Given the description of an element on the screen output the (x, y) to click on. 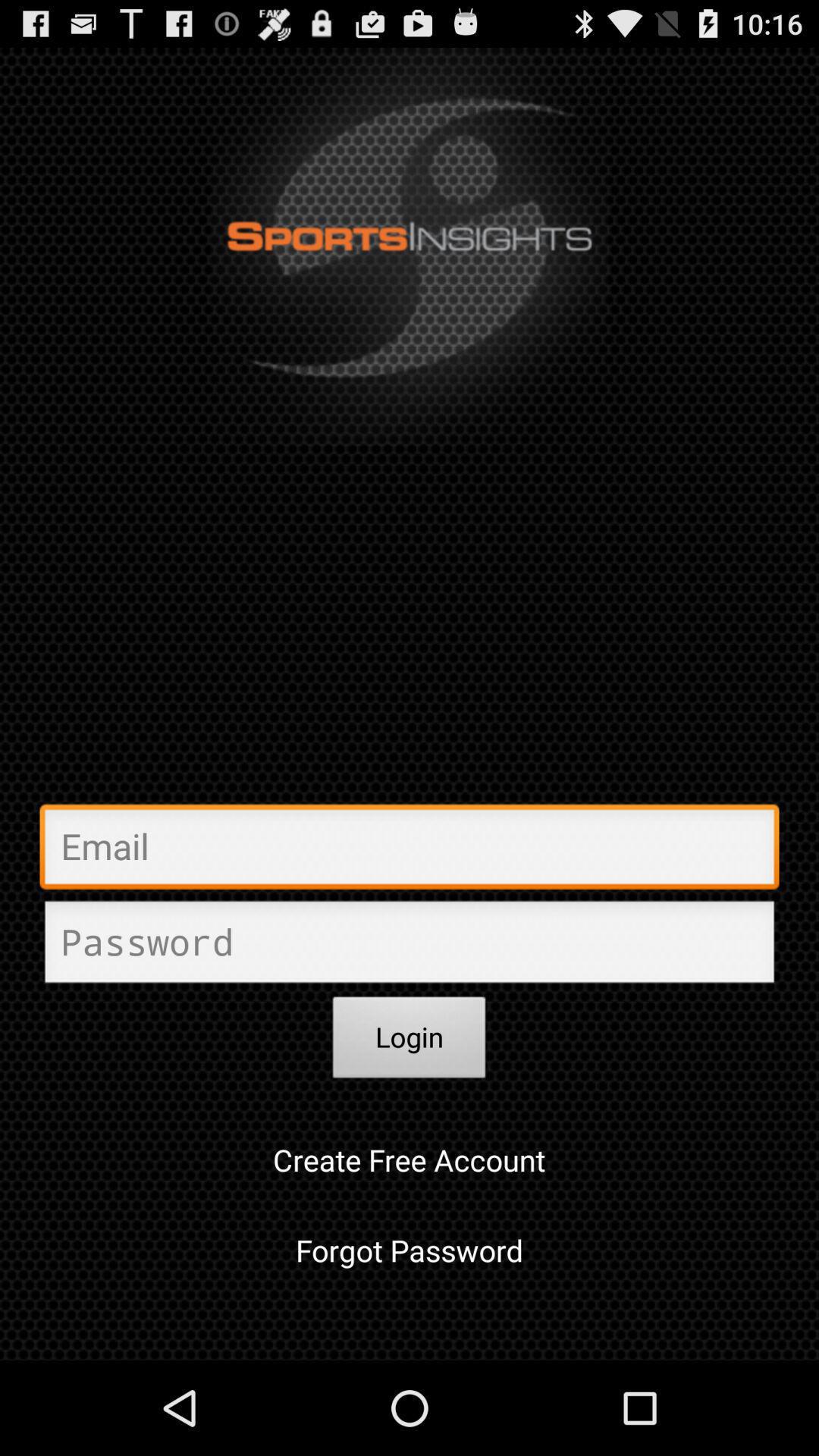
enter the password (409, 946)
